Given the description of an element on the screen output the (x, y) to click on. 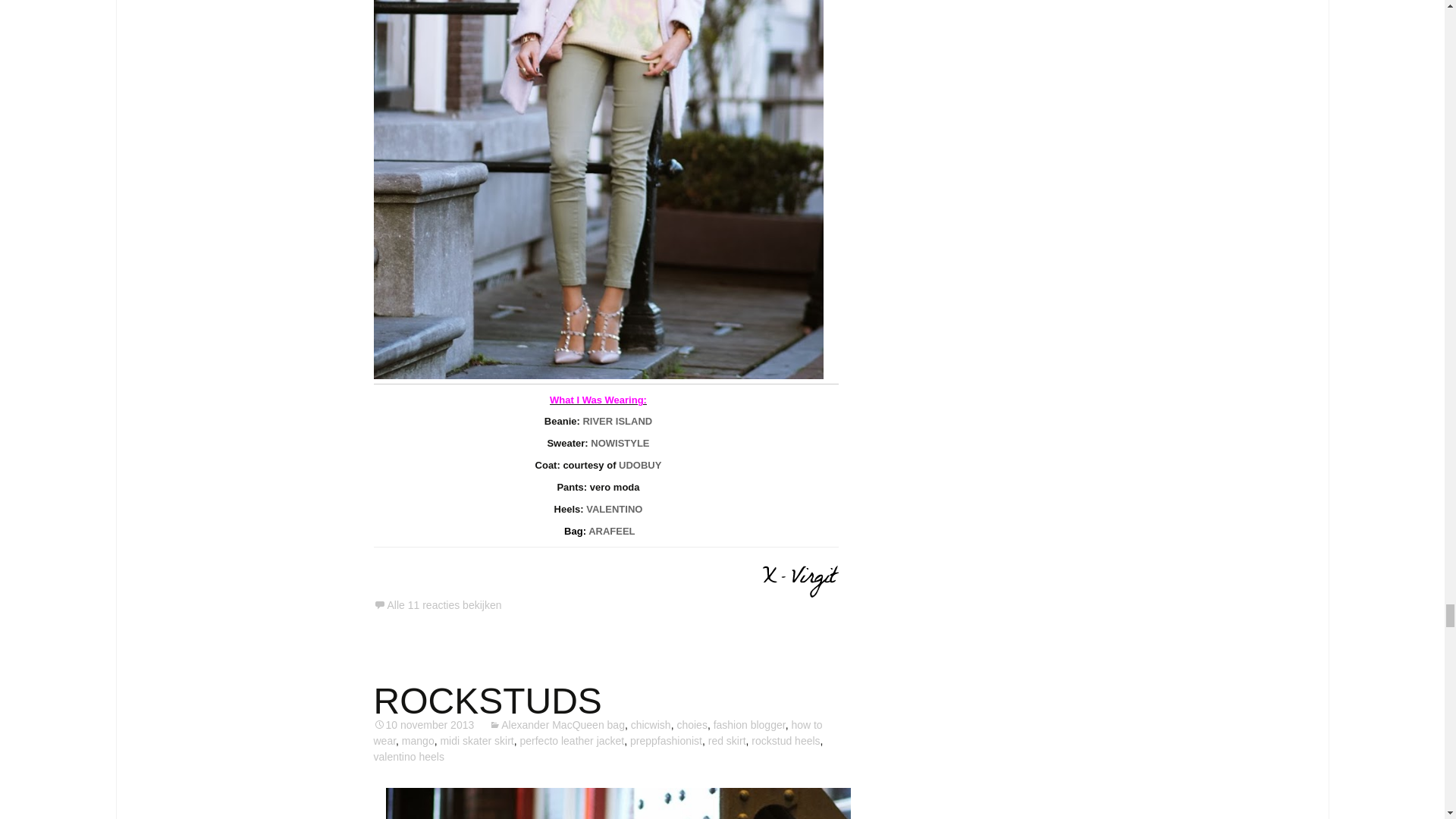
Permalink naar Rockstuds (423, 725)
